Given the description of an element on the screen output the (x, y) to click on. 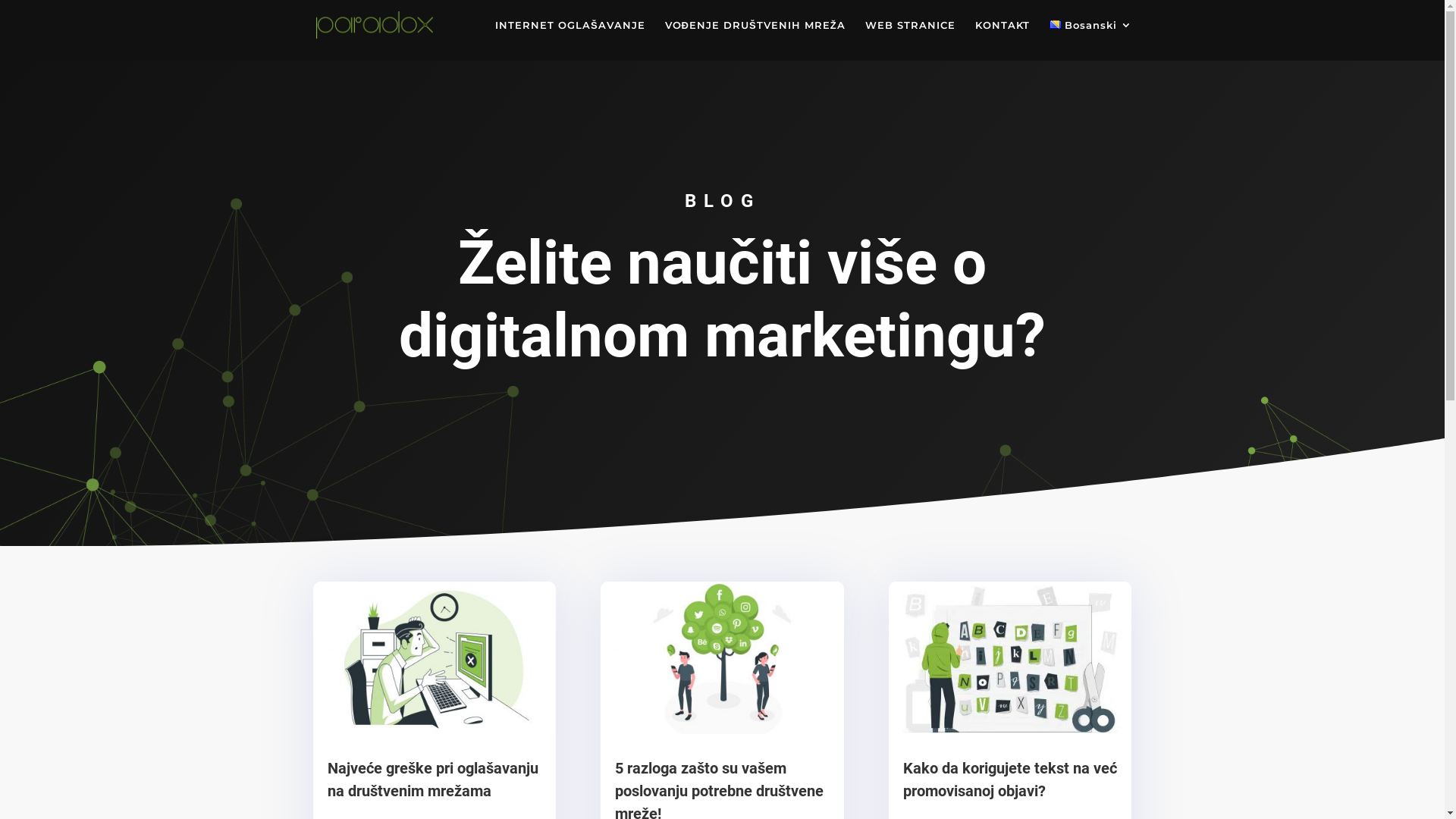
Bosanski Element type: text (1090, 34)
WEB STRANICE Element type: text (910, 34)
KONTAKT Element type: text (1002, 34)
